Given the description of an element on the screen output the (x, y) to click on. 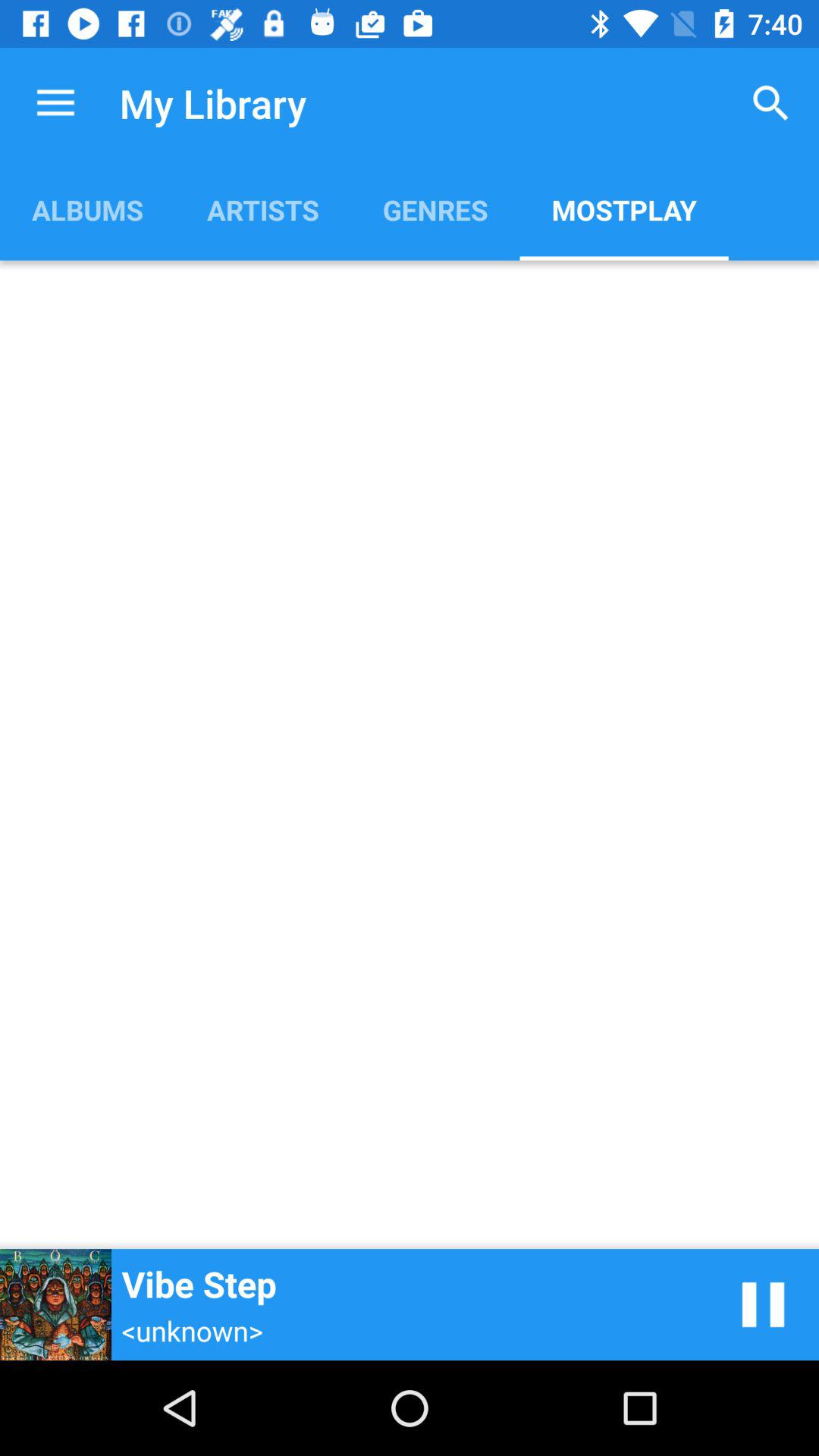
turn on item above the albums (55, 103)
